Given the description of an element on the screen output the (x, y) to click on. 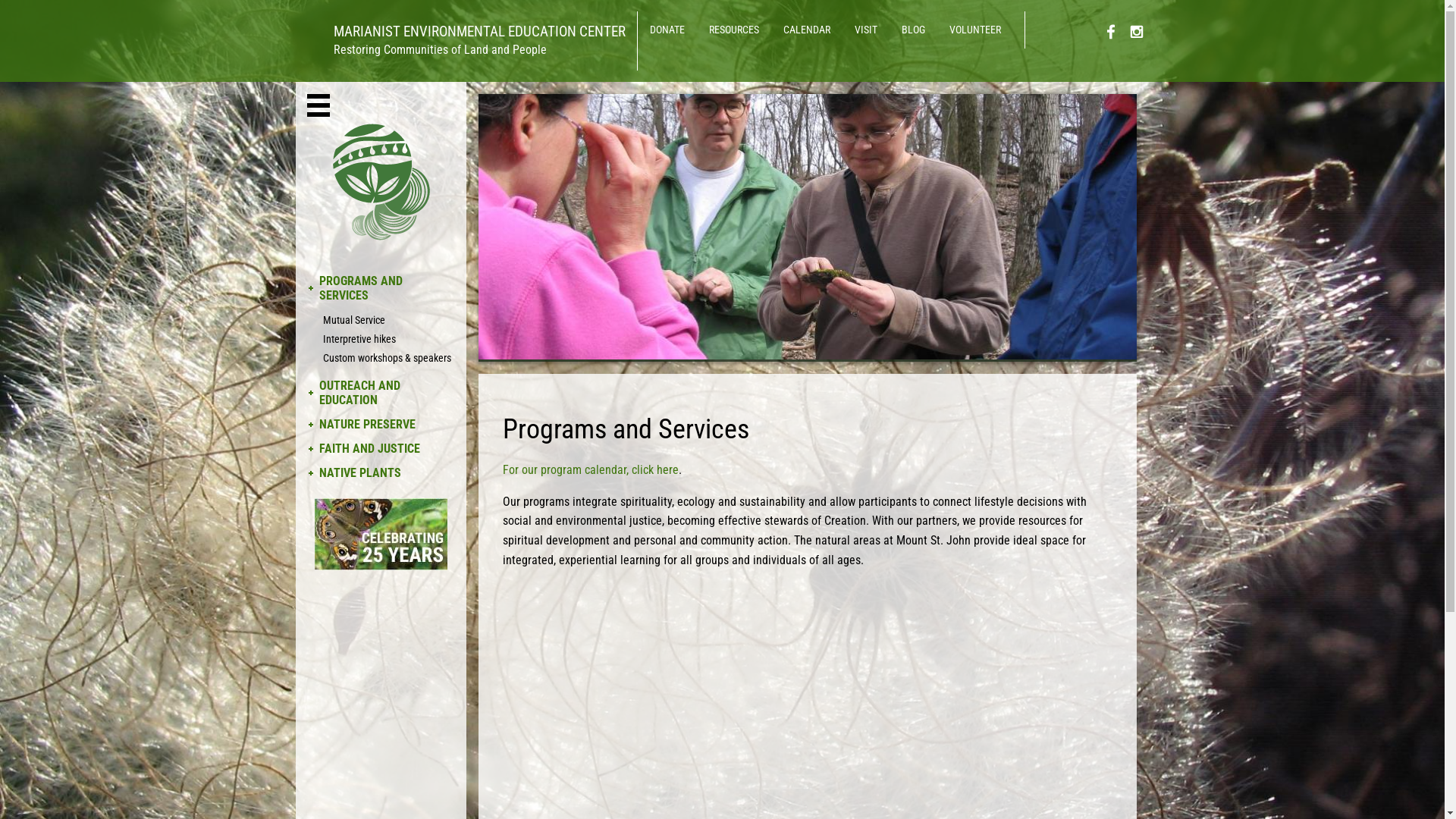
For our program calendar, click here Element type: text (590, 469)
Interpretive hikes Element type: text (380, 338)
CALENDAR Element type: text (805, 29)
NATIVE PLANTS Element type: text (380, 472)
FAITH AND JUSTICE Element type: text (380, 448)
VOLUNTEER Element type: text (975, 29)
BLOG Element type: text (912, 29)
NATURE PRESERVE Element type: text (380, 424)
PROGRAMS AND SERVICES Element type: text (380, 287)
VISIT Element type: text (864, 29)
Mutual Service Element type: text (380, 319)
RESOURCES Element type: text (733, 29)
Custom workshops & speakers Element type: text (380, 357)
MARIANIST ENVIRONMENTAL EDUCATION CENTER Element type: text (460, 31)
DONATE Element type: text (666, 29)
Skip to main content Element type: text (0, 0)
OUTREACH AND EDUCATION Element type: text (380, 392)
